Given the description of an element on the screen output the (x, y) to click on. 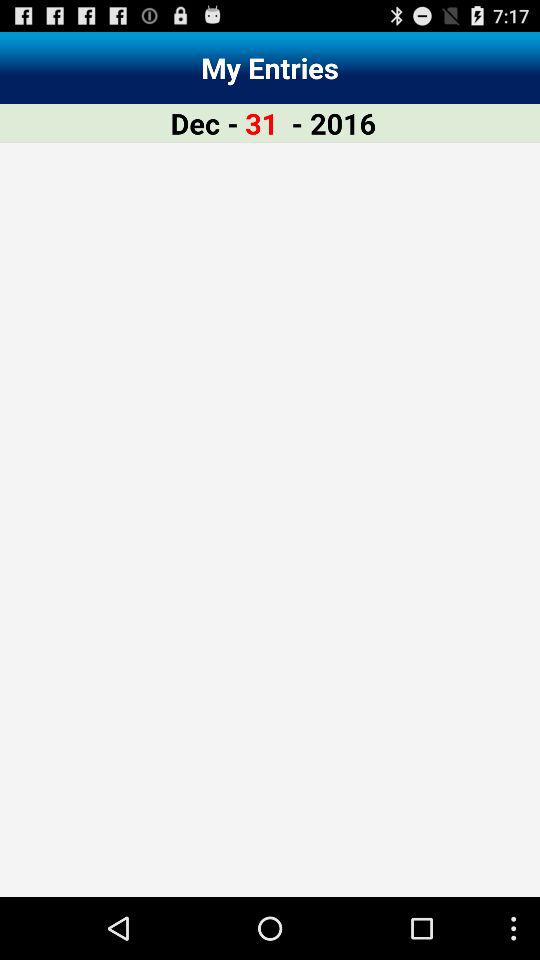
select the 31 icon (261, 122)
